Given the description of an element on the screen output the (x, y) to click on. 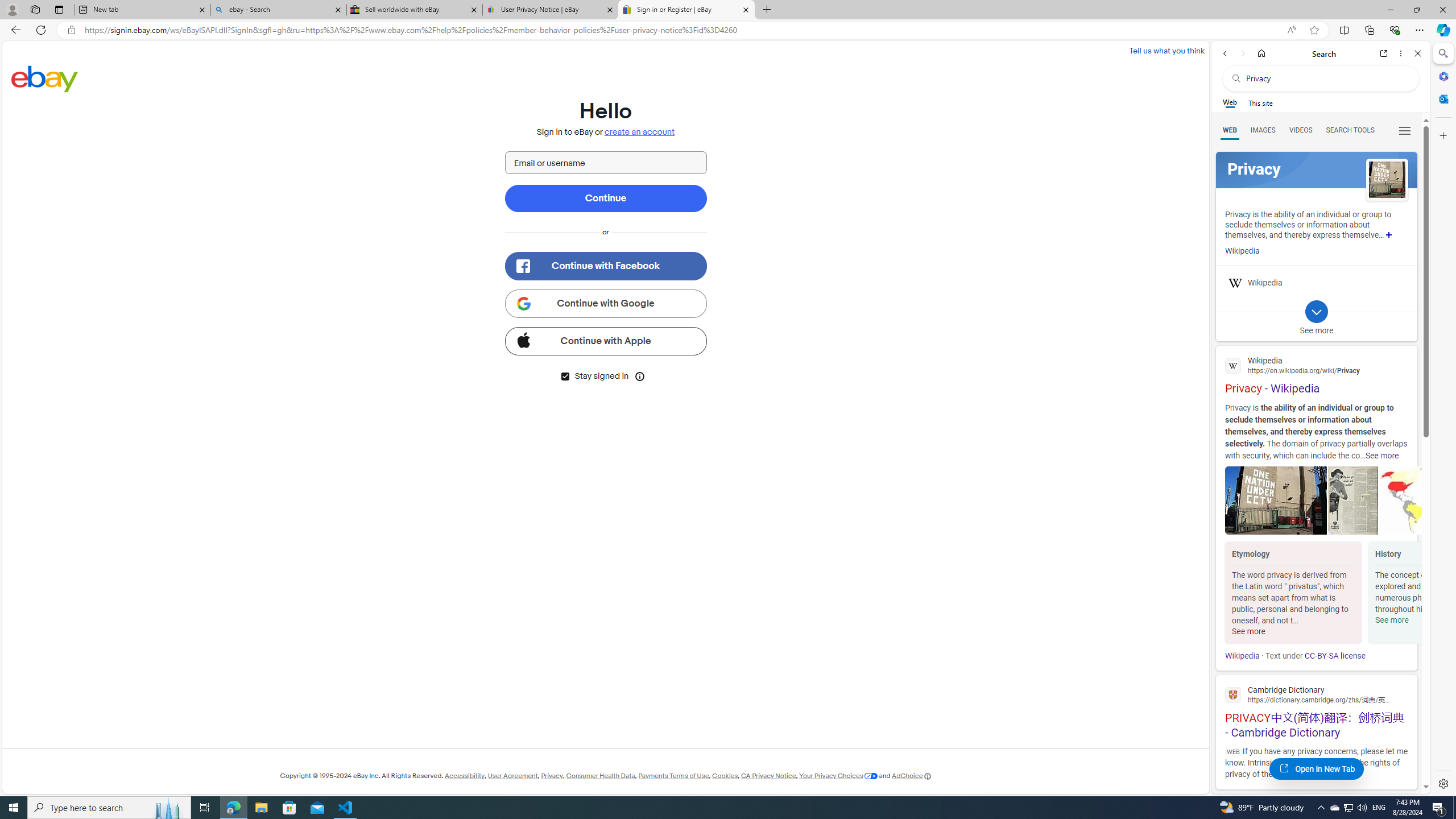
Privacy - Wikipedia (1315, 373)
Show more (1388, 234)
